Given the description of an element on the screen output the (x, y) to click on. 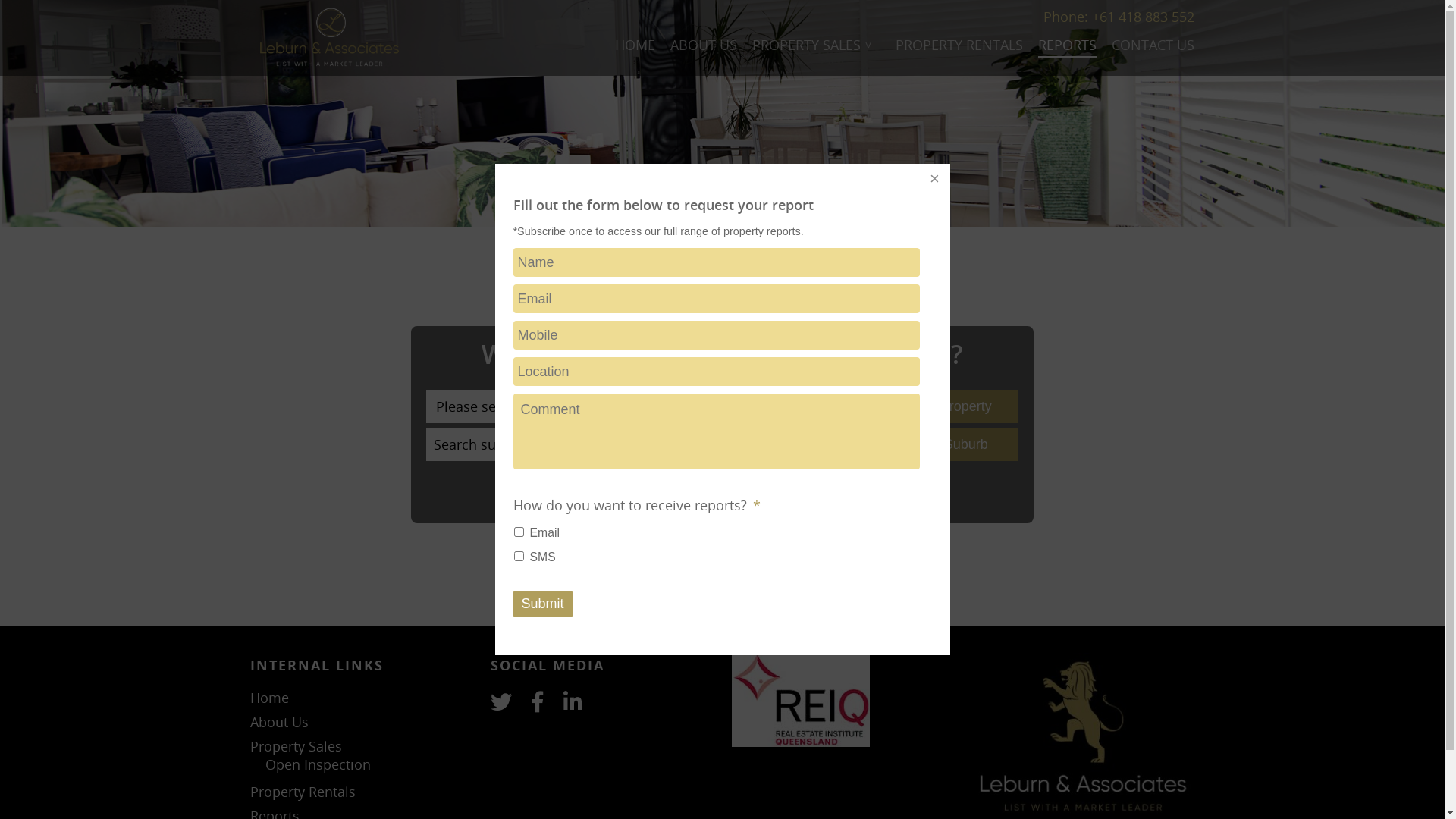
REPORTS Element type: text (1067, 44)
Phone: +61 418 883 552 Element type: text (1118, 16)
Search Suburb Element type: text (942, 444)
Home Element type: text (361, 697)
Submit Element type: text (541, 603)
Search Property Element type: text (942, 406)
About Us Element type: text (361, 721)
CONTACT US Element type: text (1152, 44)
PROPERTY RENTALS Element type: text (958, 44)
Close Element type: hover (934, 178)
ABOUT US Element type: text (703, 44)
Please select building name Element type: text (646, 406)
HOME Element type: text (635, 44)
Open Inspection Element type: text (368, 764)
Property Rentals Element type: text (361, 791)
PROPERTY SALES Element type: text (816, 44)
Request a Building/Suburb Report Now Element type: text (721, 494)
Property Sales Element type: text (361, 746)
